Given the description of an element on the screen output the (x, y) to click on. 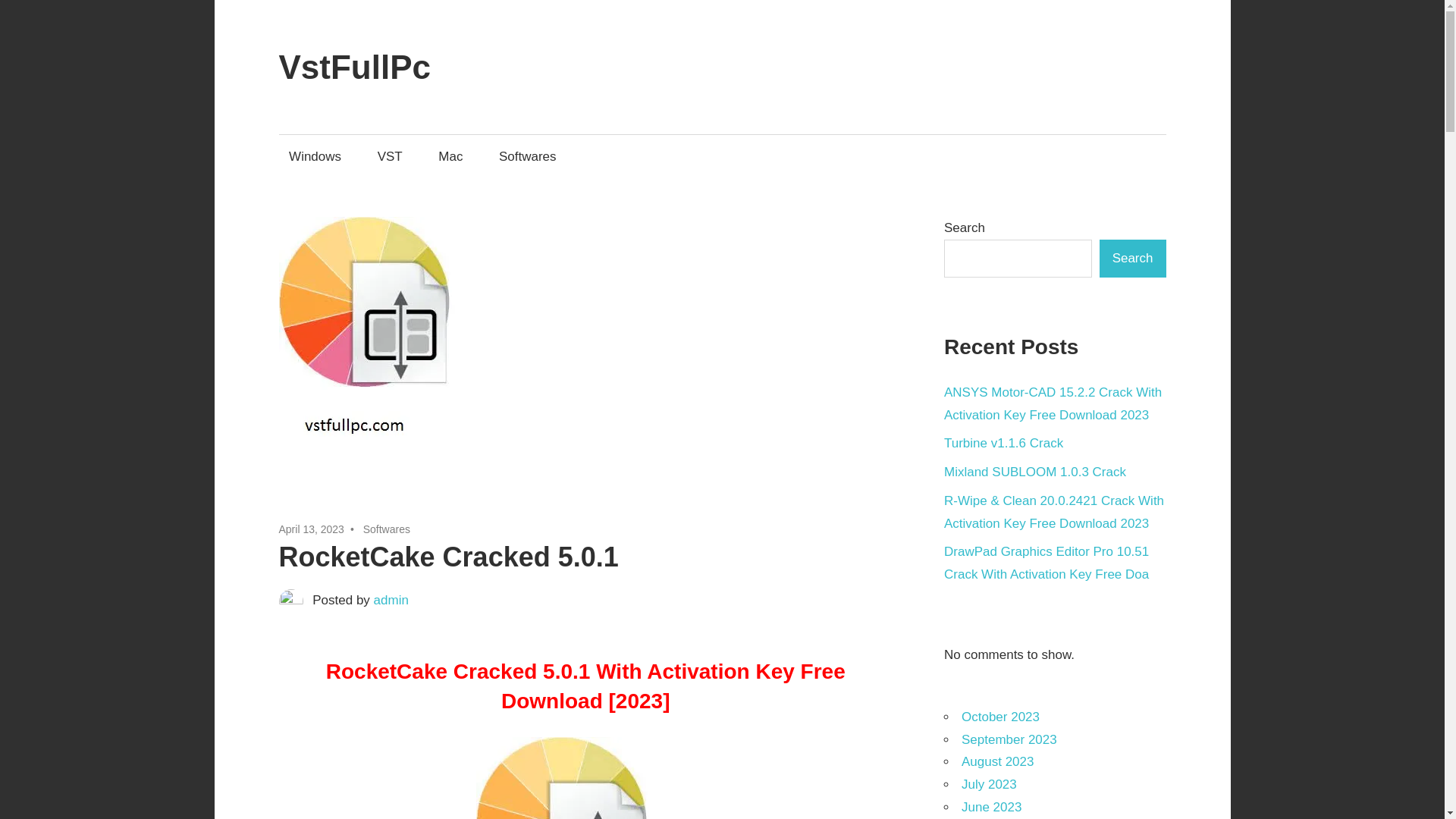
Mac (450, 156)
Mixland SUBLOOM 1.0.3 Crack (1034, 472)
Softwares (526, 156)
Softwares (386, 529)
Windows (315, 156)
11:57 am (311, 529)
View all posts by admin (391, 599)
October 2023 (999, 716)
Search (1132, 258)
April 13, 2023 (311, 529)
admin (391, 599)
Turbine v1.1.6 Crack (1002, 442)
VST (389, 156)
